Given the description of an element on the screen output the (x, y) to click on. 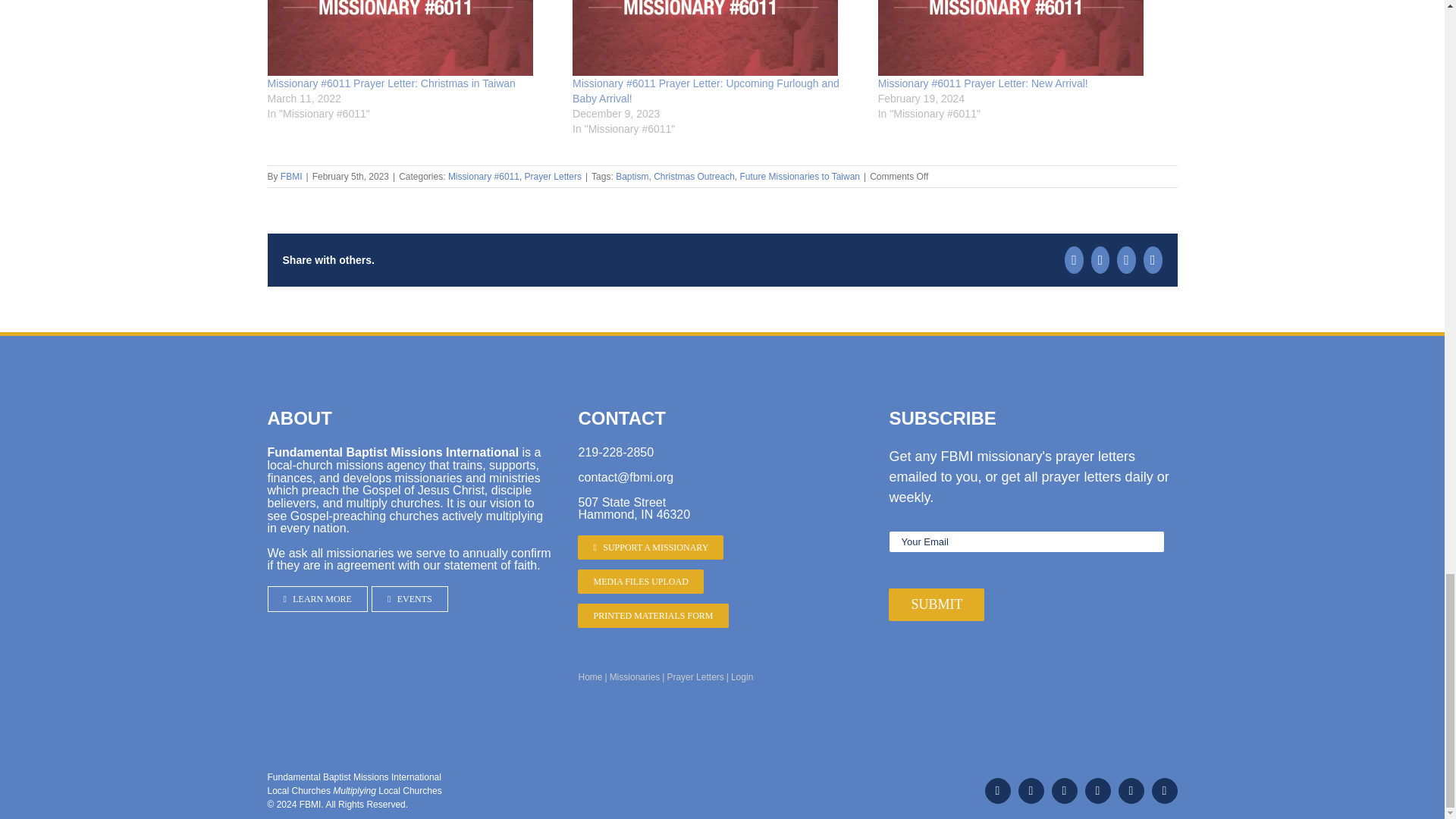
Submit (936, 604)
